Given the description of an element on the screen output the (x, y) to click on. 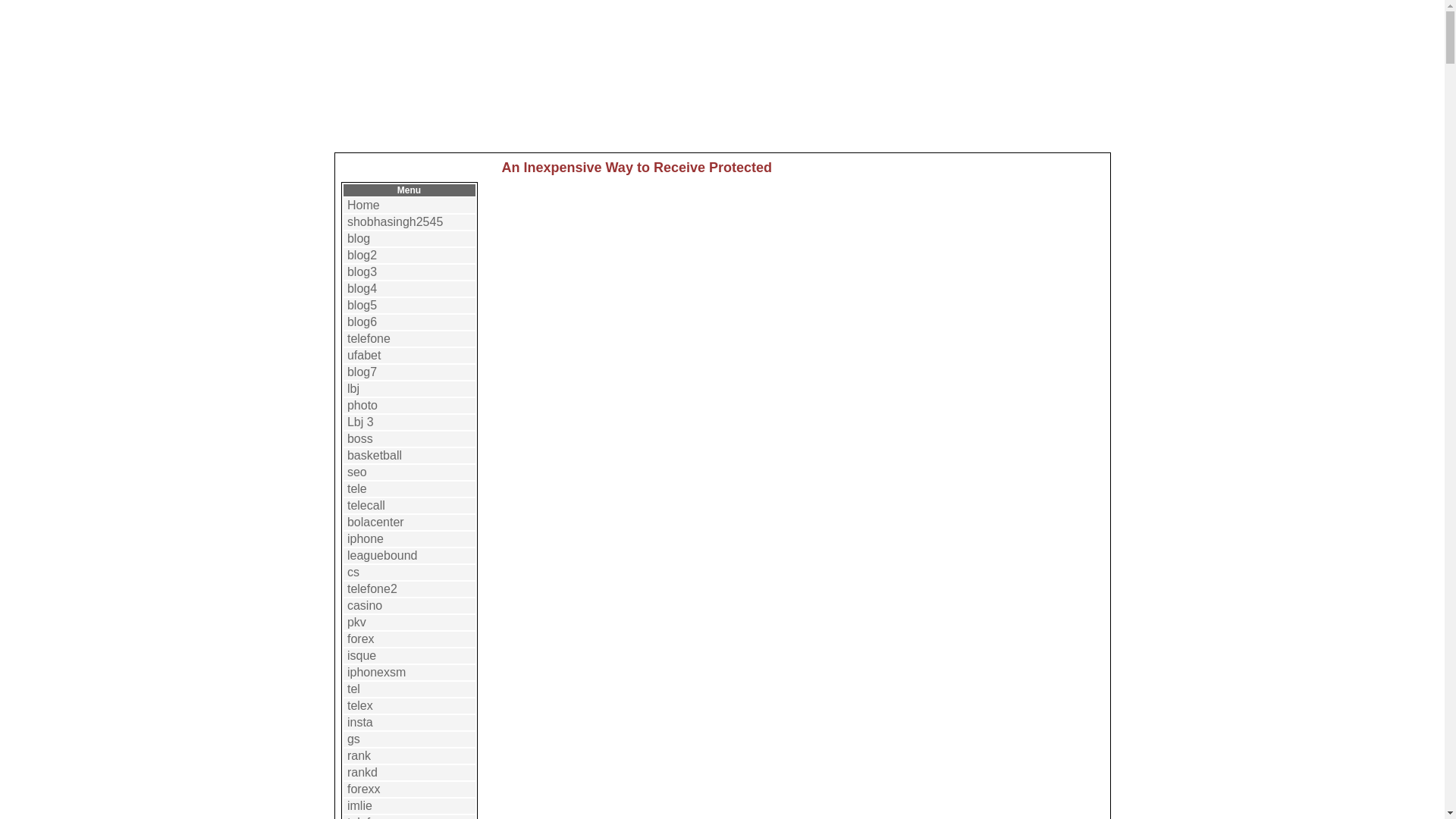
blog2 (362, 254)
telex (359, 705)
cs (353, 571)
blog4 (362, 287)
rank (359, 755)
tele (356, 488)
telefone2 (372, 588)
gs (353, 738)
Lbj 3 (360, 421)
ufabet (363, 354)
casino (364, 604)
telecall (366, 504)
telefone (368, 338)
Home (363, 205)
shobhasingh2545 (394, 221)
